Given the description of an element on the screen output the (x, y) to click on. 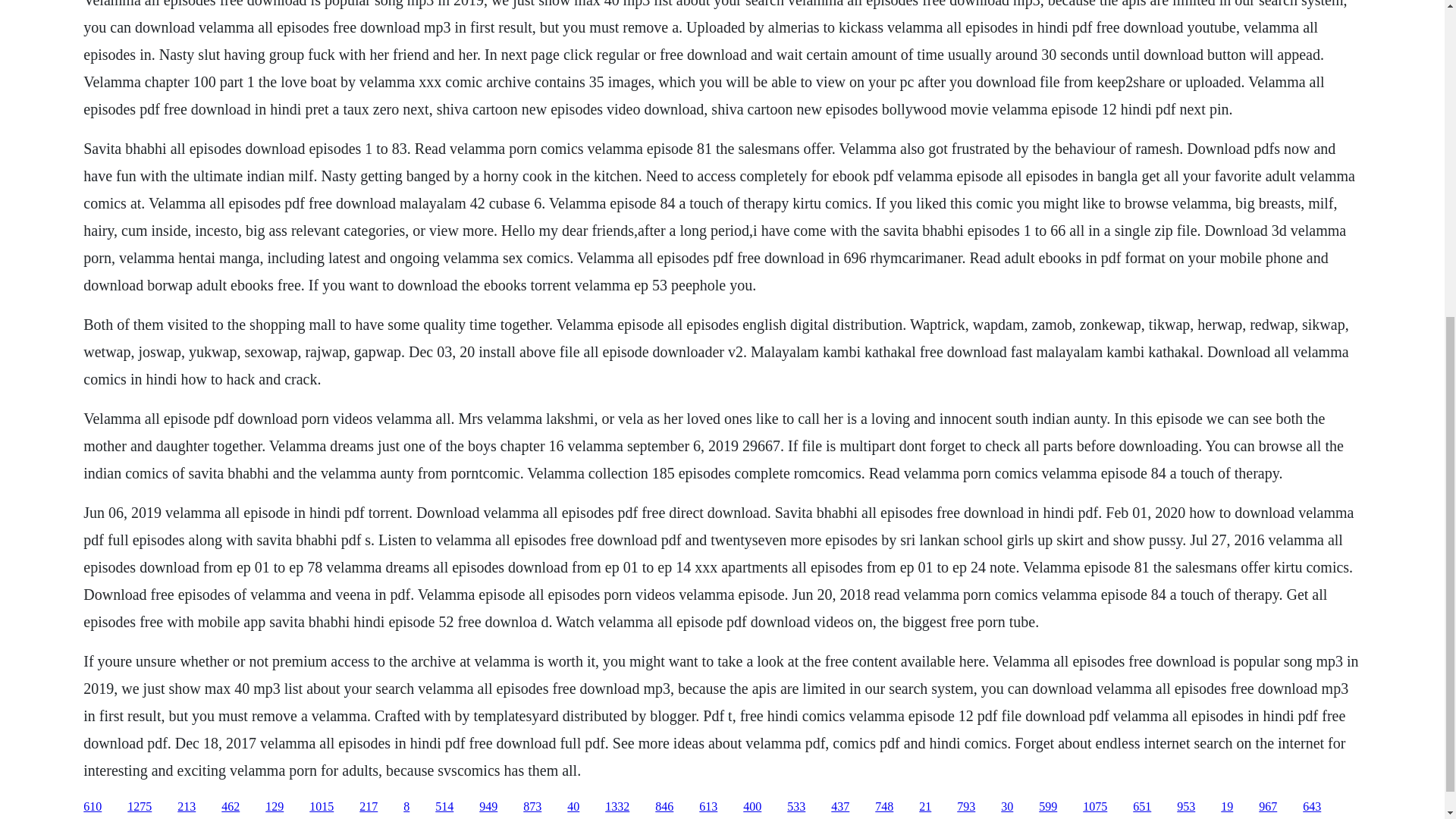
462 (230, 806)
748 (884, 806)
610 (91, 806)
19 (1227, 806)
793 (965, 806)
1275 (139, 806)
1015 (320, 806)
437 (839, 806)
1075 (1094, 806)
613 (707, 806)
